Given the description of an element on the screen output the (x, y) to click on. 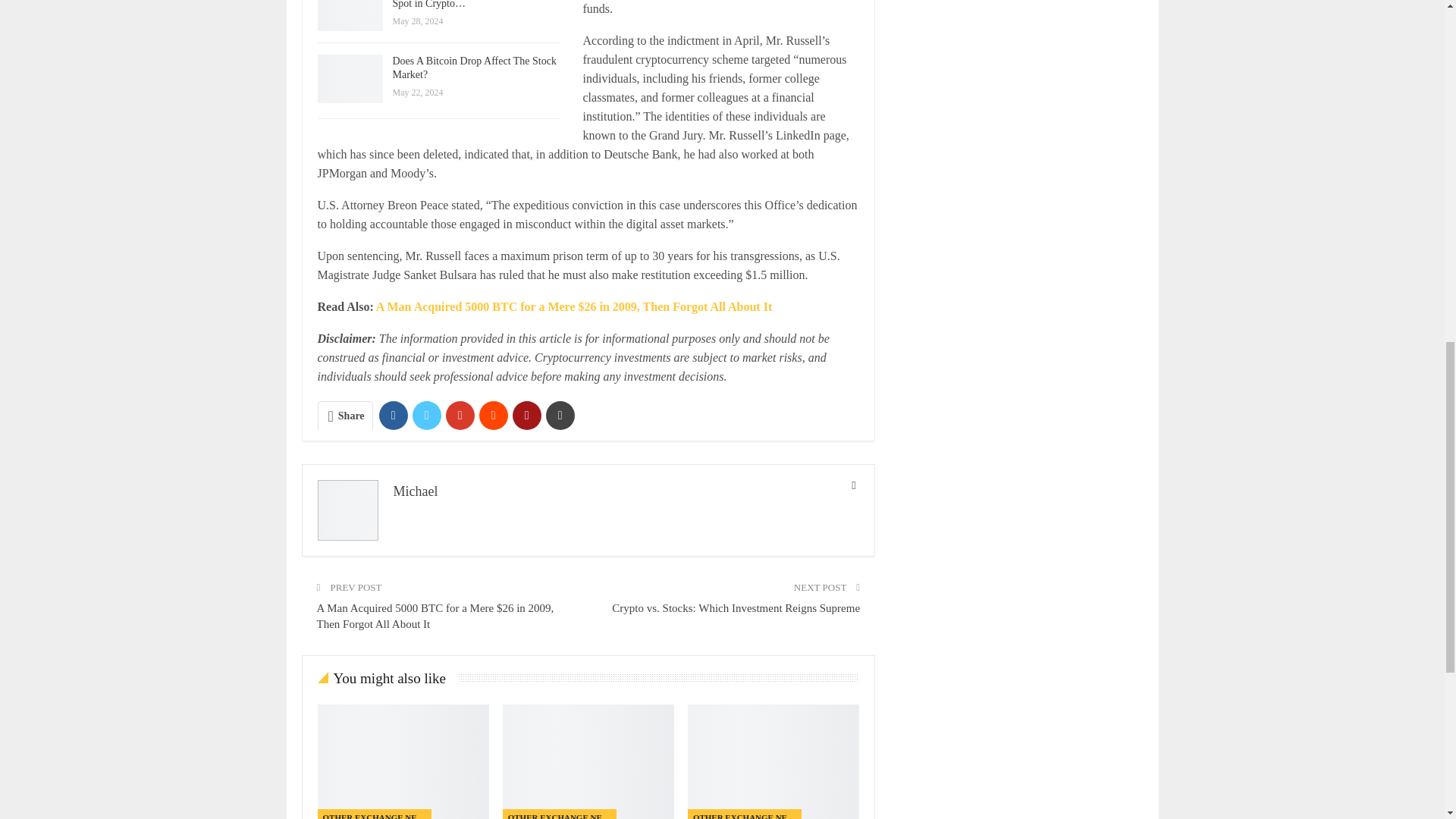
Does A Bitcoin Drop Affect The Stock Market? (349, 78)
Coinbase dethroned? HTX Claims Top Spot in Crypto Trading (588, 761)
Coinbase dethroned? HTX Claims Top Spot in Crypto Trading (349, 15)
Does A Bitcoin Drop Affect The Stock Market? (773, 761)
